Given the description of an element on the screen output the (x, y) to click on. 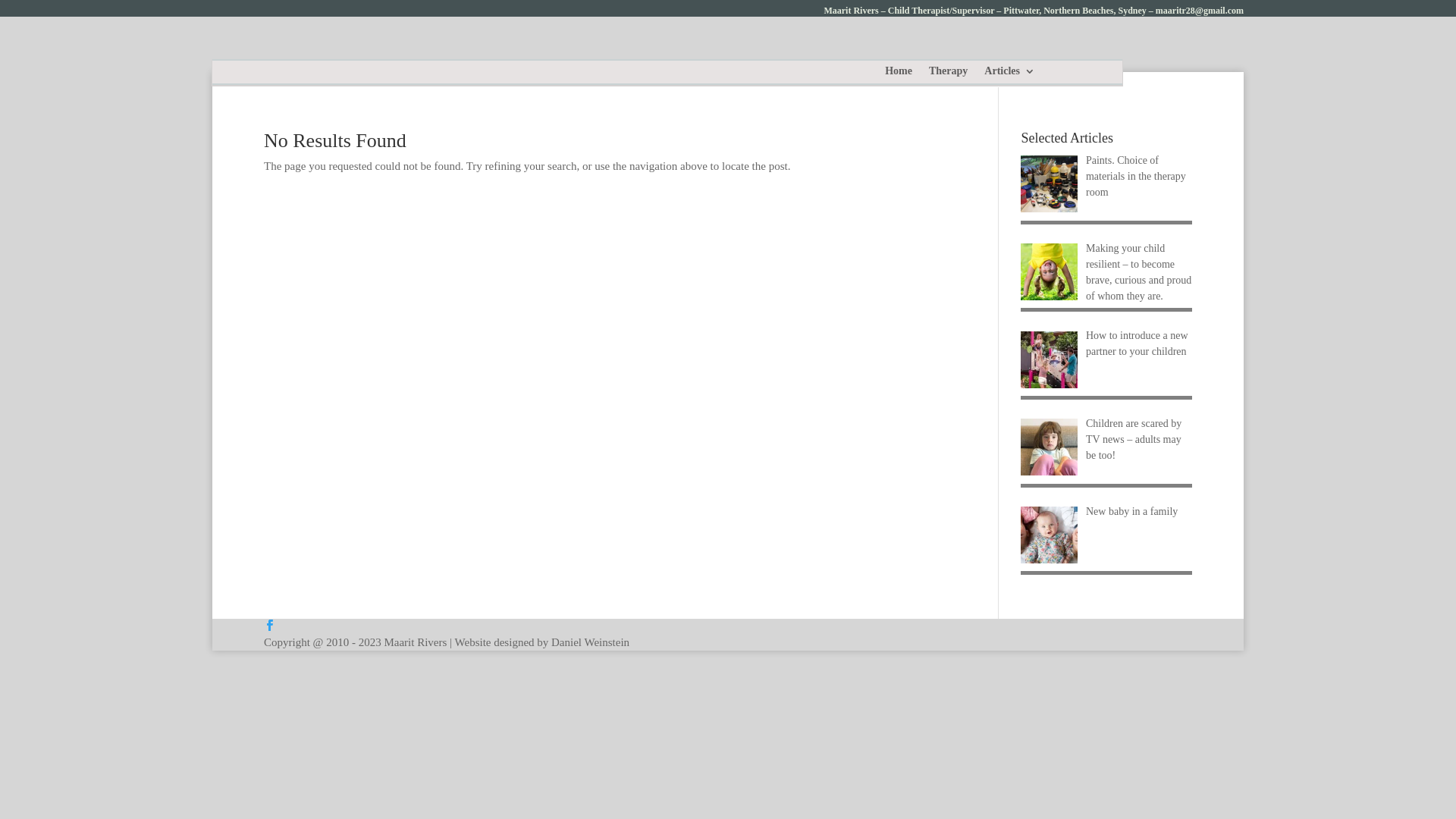
Paints. Choice of materials in the therapy room Element type: text (1135, 175)
Home Element type: text (898, 83)
How to introduce a new partner to your children Element type: text (1136, 343)
New baby in a family Element type: text (1131, 511)
Articles Element type: text (1009, 83)
Therapy Element type: text (947, 83)
